Given the description of an element on the screen output the (x, y) to click on. 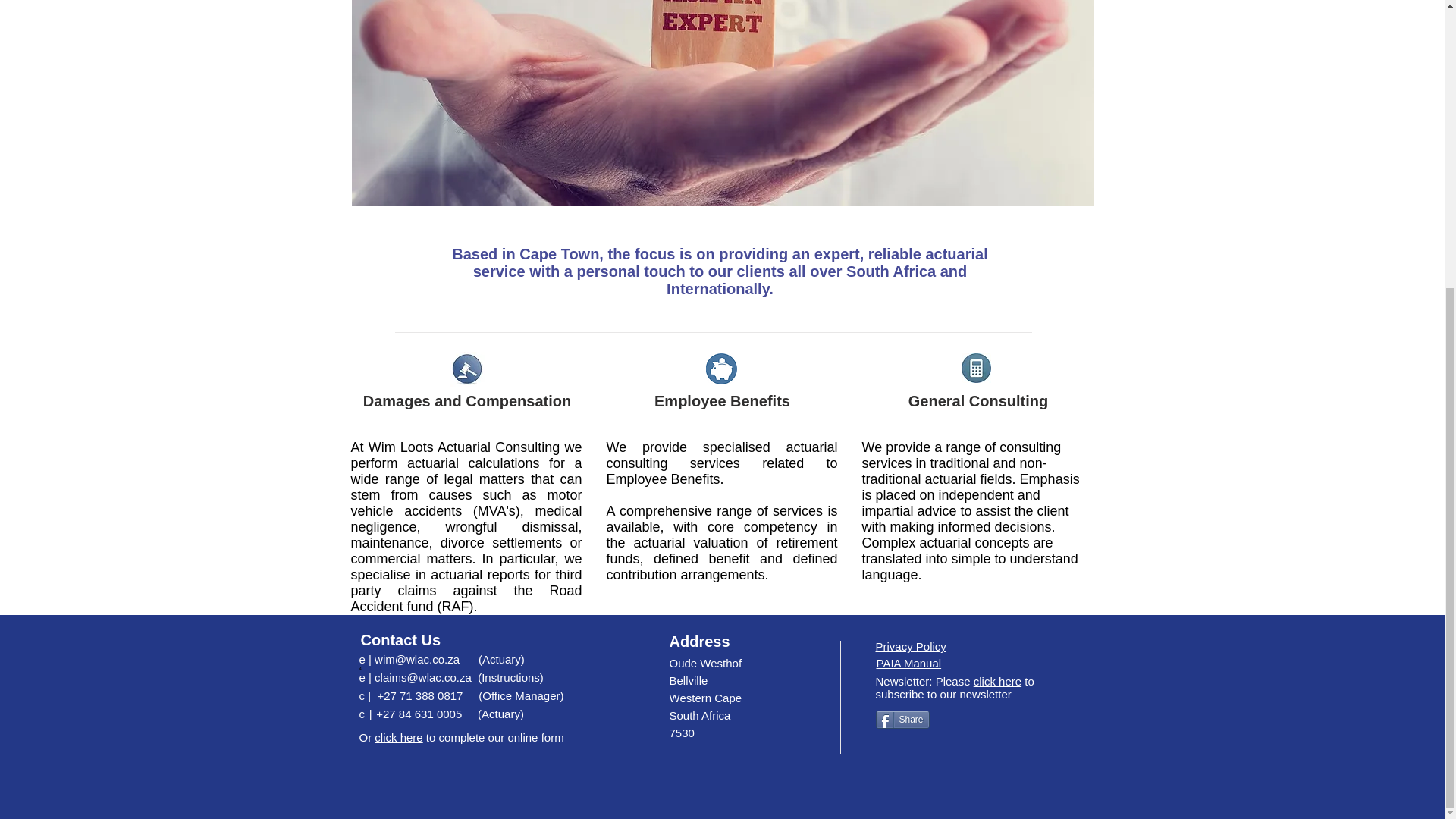
Damages and Compensation (467, 401)
click here (397, 737)
General Consulting (978, 401)
Privacy Policy (909, 645)
Share (901, 719)
Share (901, 719)
click here (998, 680)
PAIA Manual (909, 662)
Employee Benefits (721, 401)
